Given the description of an element on the screen output the (x, y) to click on. 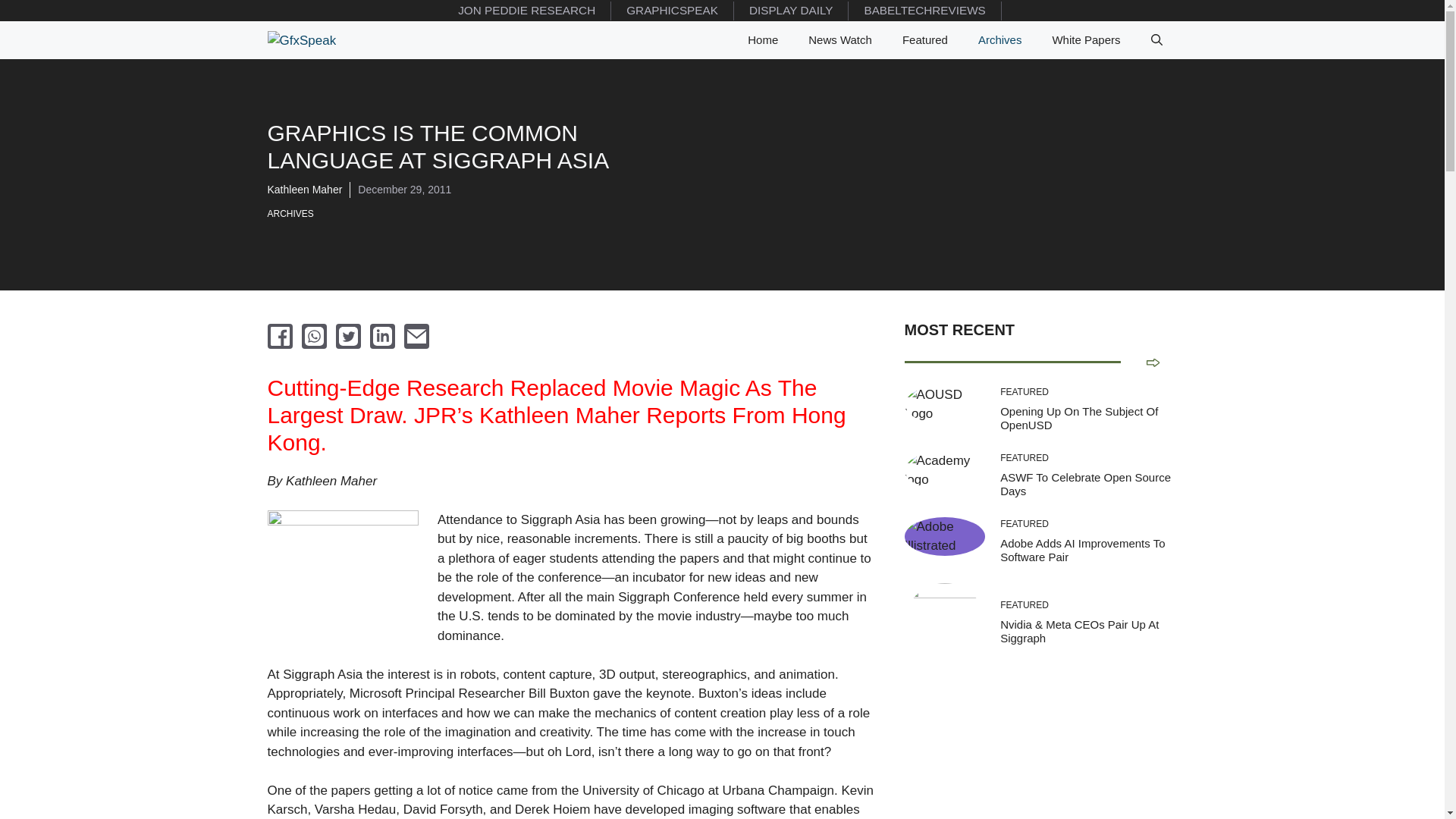
DISPLAY DAILY (790, 10)
Home (762, 39)
ARCHIVES (293, 213)
News Watch (839, 39)
GRAPHICSPEAK (672, 10)
Featured (924, 39)
Kathleen Maher (304, 189)
White Papers (1085, 39)
BABELTECHREVIEWS (924, 10)
Archives (999, 39)
